Given the description of an element on the screen output the (x, y) to click on. 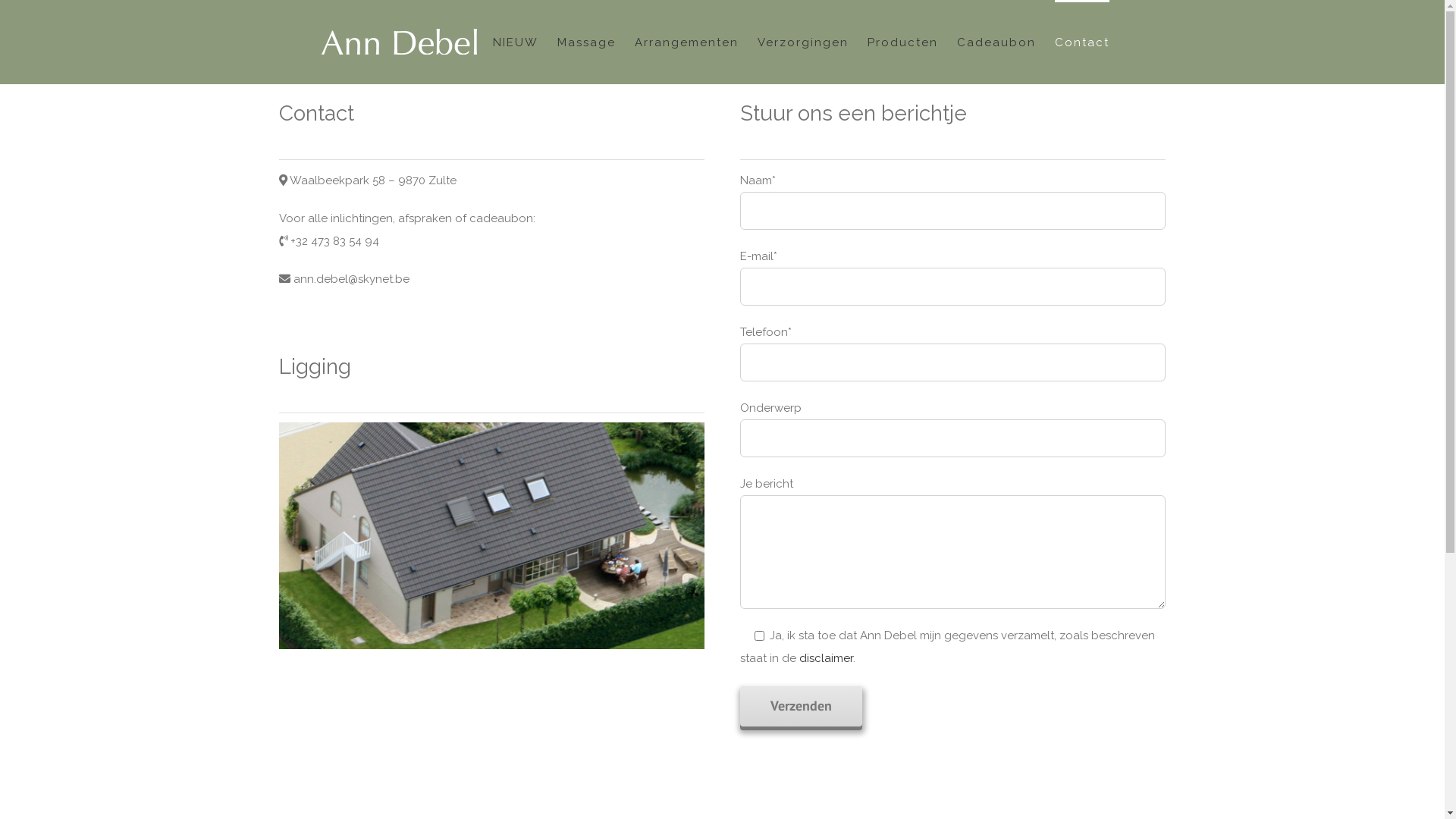
Cadeaubon Element type: text (996, 41)
luchtfoto-tuin Element type: hover (492, 535)
disclaimer Element type: text (826, 658)
NIEUW Element type: text (515, 41)
Producten Element type: text (902, 41)
Verzenden Element type: text (801, 705)
Arrangementen Element type: text (685, 41)
Massage Element type: text (585, 41)
Verzorgingen Element type: text (801, 41)
Contact Element type: text (1081, 41)
